Given the description of an element on the screen output the (x, y) to click on. 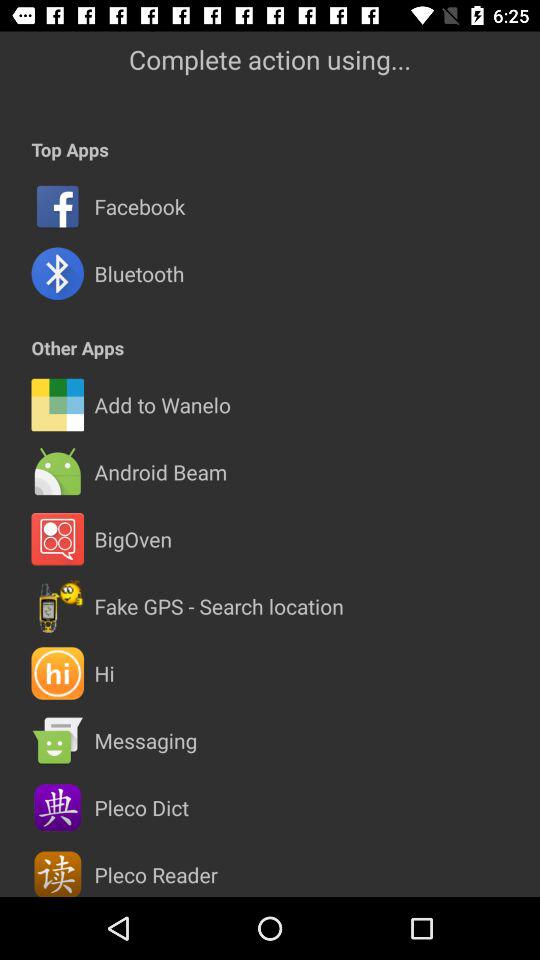
turn on app below the complete action using... icon (69, 149)
